Given the description of an element on the screen output the (x, y) to click on. 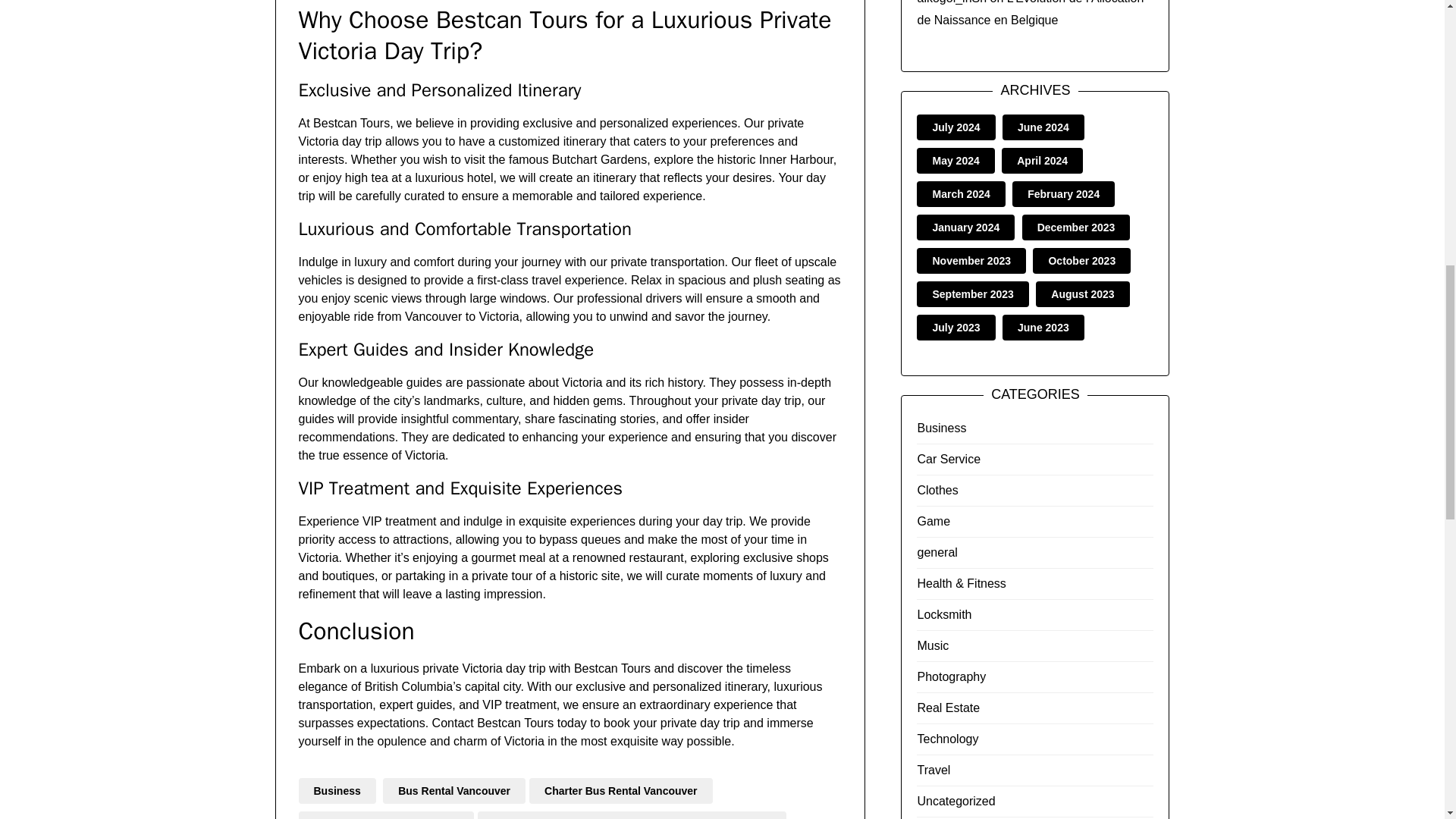
Private Tour: Vancouver Day Tour with Capilano Bridge (631, 815)
Charter Bus Rental Vancouver (621, 790)
July 2024 (955, 127)
Bus Rental Vancouver (453, 790)
Business (336, 790)
June 2024 (1042, 127)
April 2024 (1041, 160)
May 2024 (954, 160)
Charter Bus Service near me (386, 815)
